Given the description of an element on the screen output the (x, y) to click on. 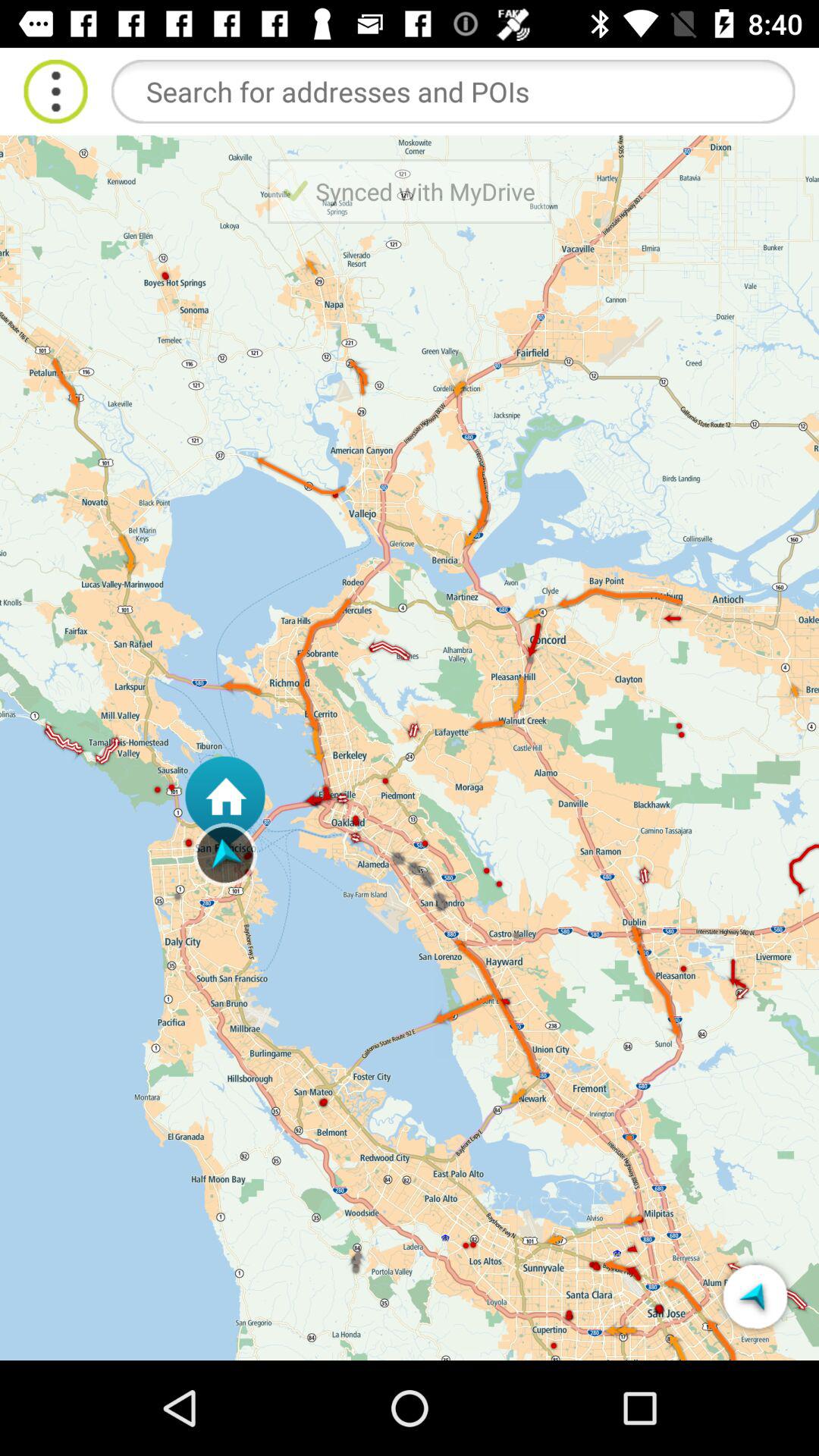
direction of map (755, 1296)
